Given the description of an element on the screen output the (x, y) to click on. 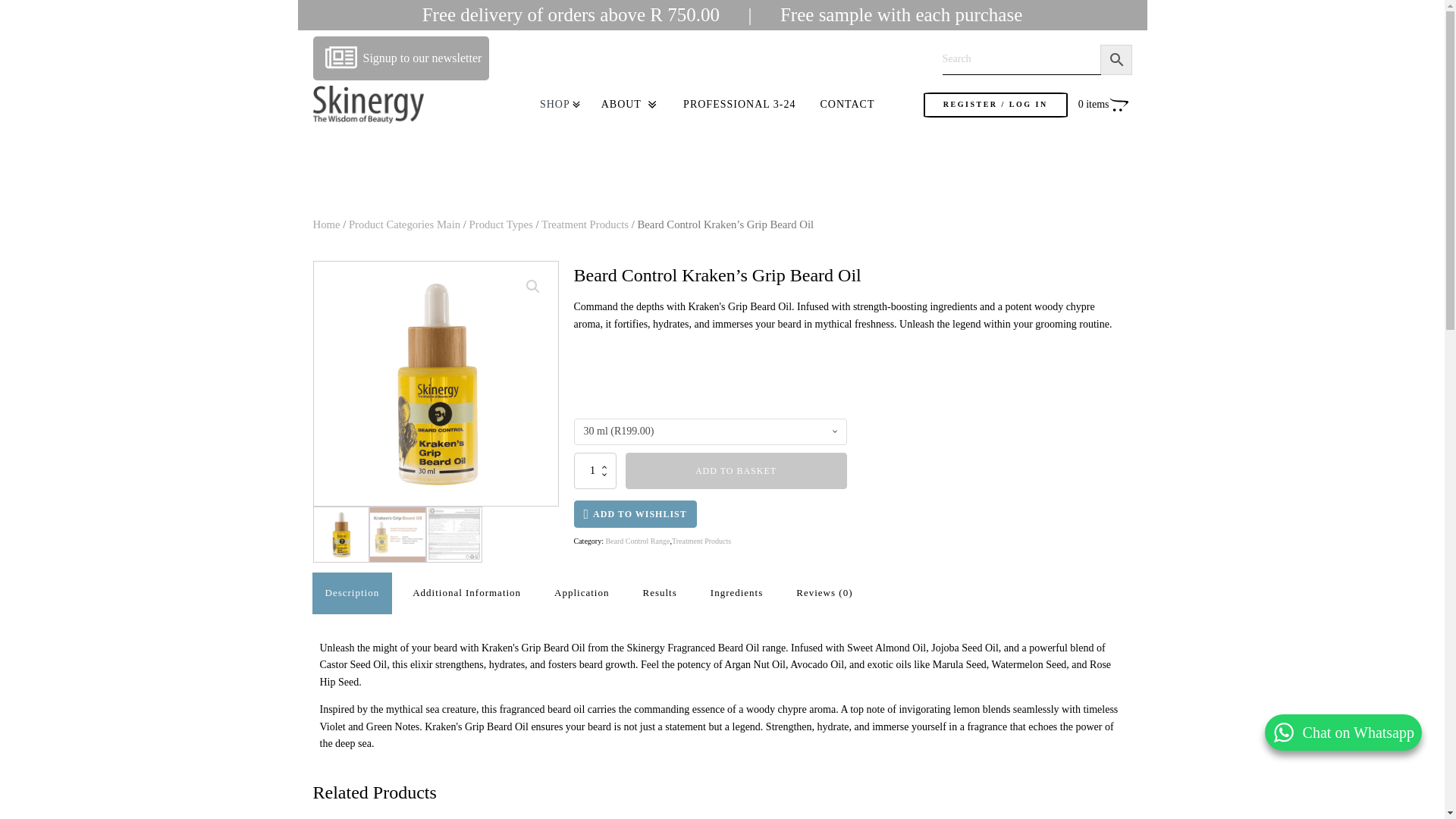
Kraken's Grip Beard Oil (679, 383)
Fragranced Beard Oil Kraken's Grip Beard Oil 30 ml (435, 383)
1 (594, 470)
